Given the description of an element on the screen output the (x, y) to click on. 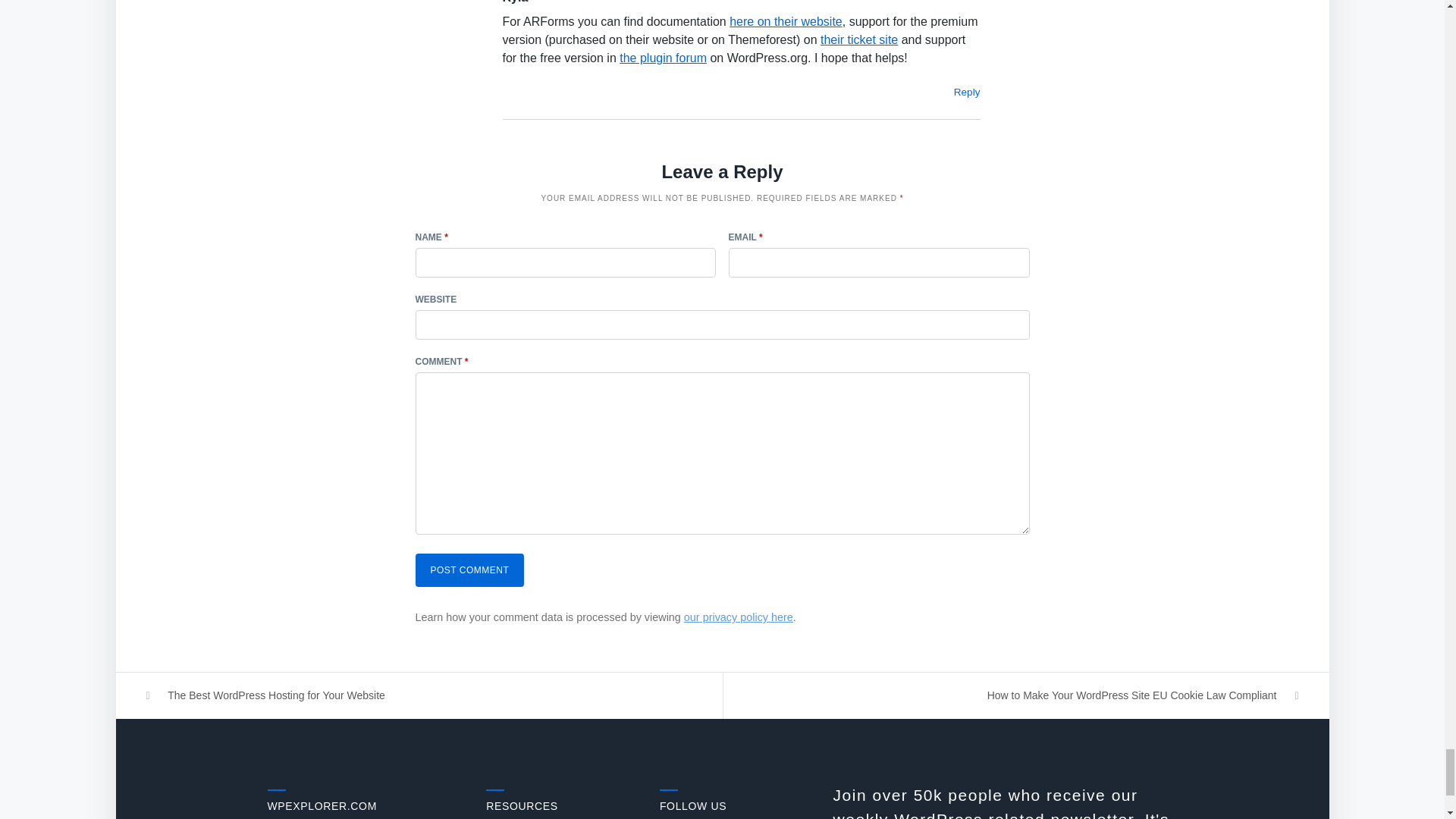
our privacy policy here (738, 616)
Reply (966, 91)
The Best WordPress Hosting for Your Website (418, 695)
Post Comment (469, 570)
here on their website (786, 21)
How to Make Your WordPress Site EU Cookie Law Compliant (1026, 695)
their ticket site (859, 39)
Post Comment (469, 570)
the plugin forum (663, 57)
